Given the description of an element on the screen output the (x, y) to click on. 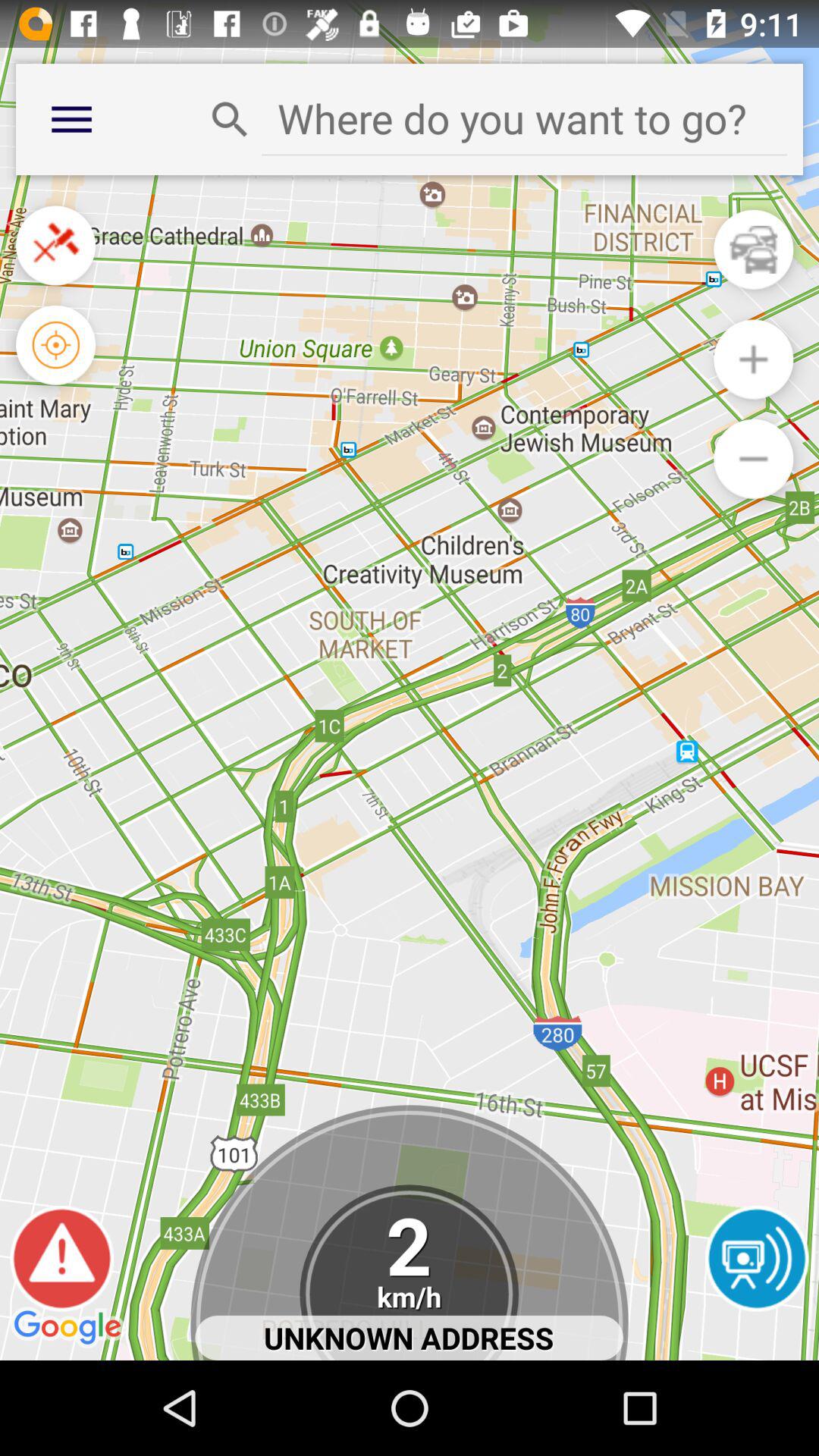
find my location (55, 345)
